Given the description of an element on the screen output the (x, y) to click on. 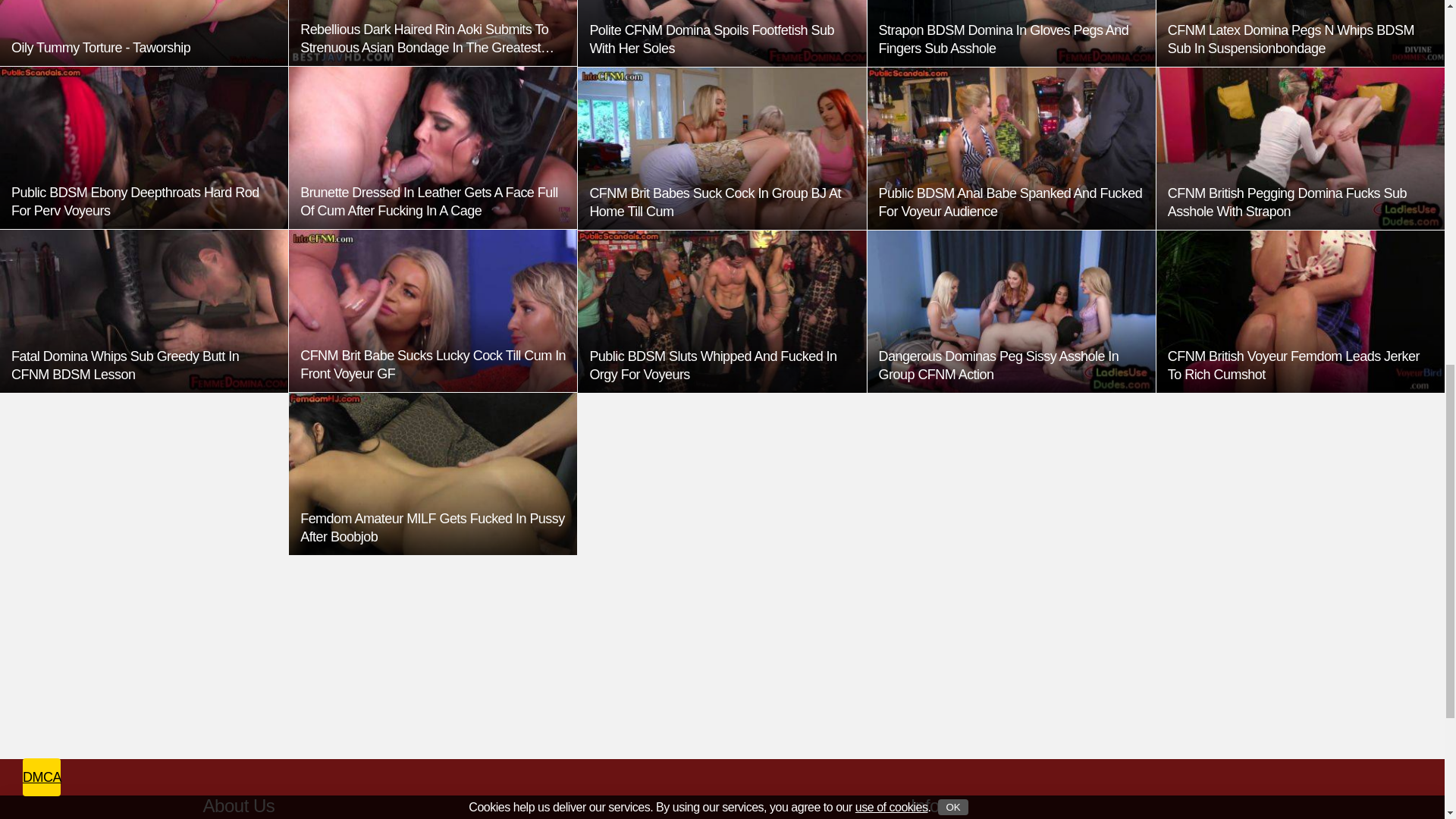
Public BDSM Ebony Deepthroats Hard Rod For Perv Voyeurs (144, 147)
Polite CFNM Domina Spoils Footfetish Sub With Her Soles (722, 33)
Oily Tummy Torture - Taworship (144, 33)
Strapon BDSM Domina In Gloves Pegs And Fingers Sub Asshole (1011, 33)
